Given the description of an element on the screen output the (x, y) to click on. 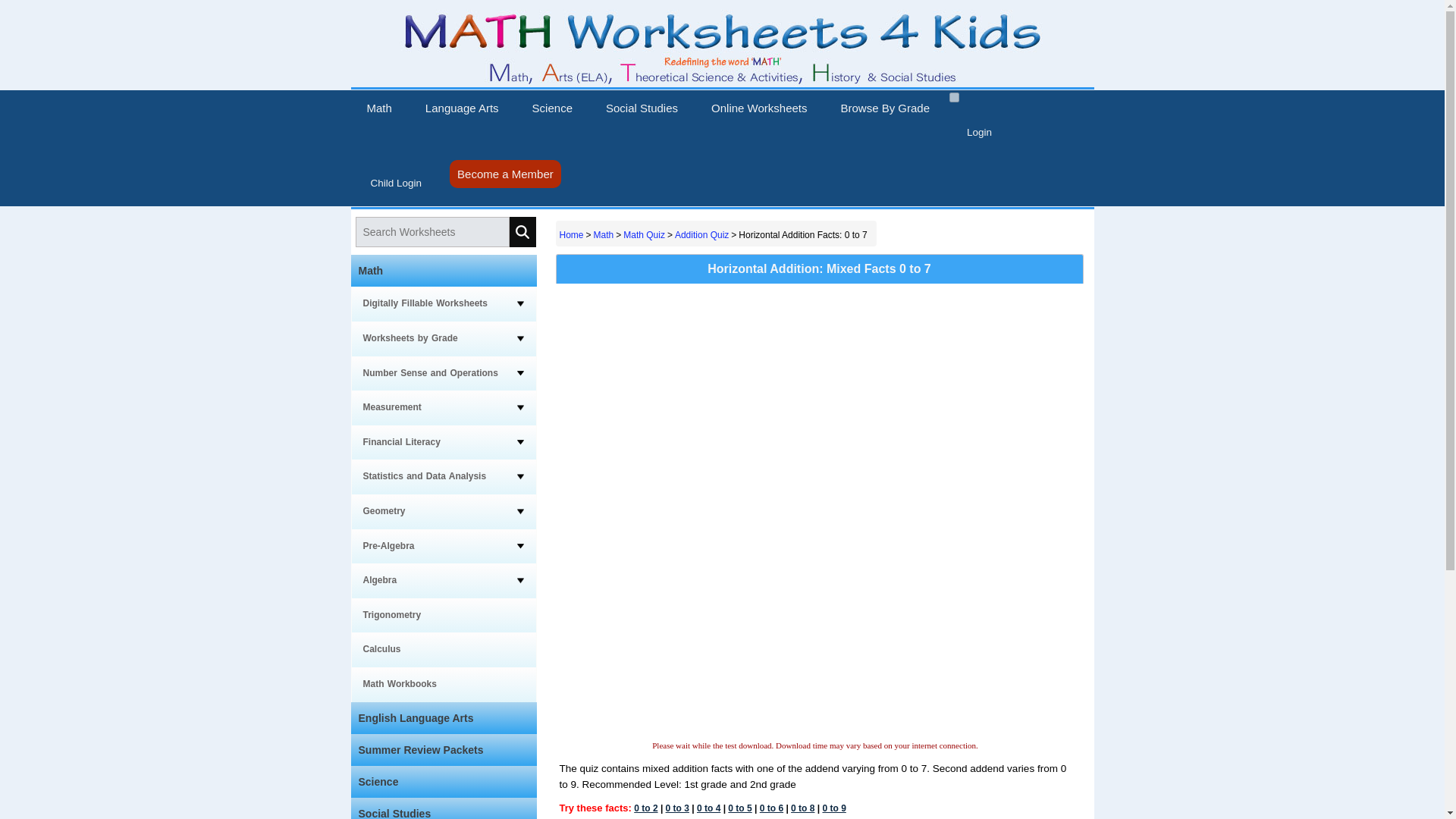
Math (379, 108)
on (954, 97)
Become a Member (504, 173)
Social Studies (641, 108)
Printable Worksheets for Kids (721, 82)
Online Worksheets (759, 108)
Science (552, 108)
Language Arts (462, 108)
Browse By Grade (885, 108)
Login (981, 130)
